Given the description of an element on the screen output the (x, y) to click on. 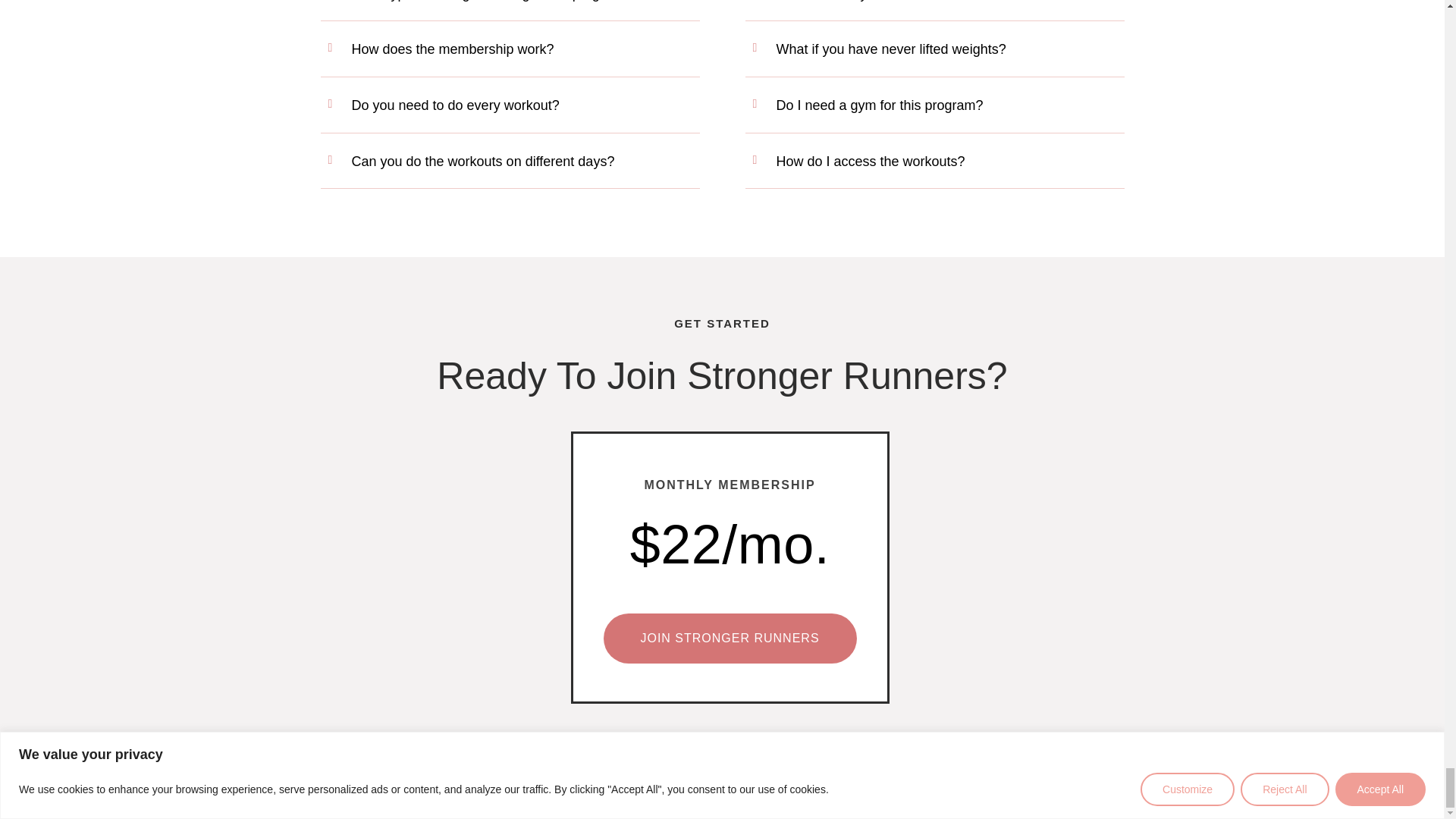
What if you have never lifted weights? (891, 48)
How does the membership work? (453, 48)
Do you need to do every workout? (455, 105)
Can you do the workouts on different days? (483, 160)
How do I access the workouts? (870, 160)
JOIN STRONGER RUNNERS (729, 637)
Do I need a gym for this program? (880, 105)
